Given the description of an element on the screen output the (x, y) to click on. 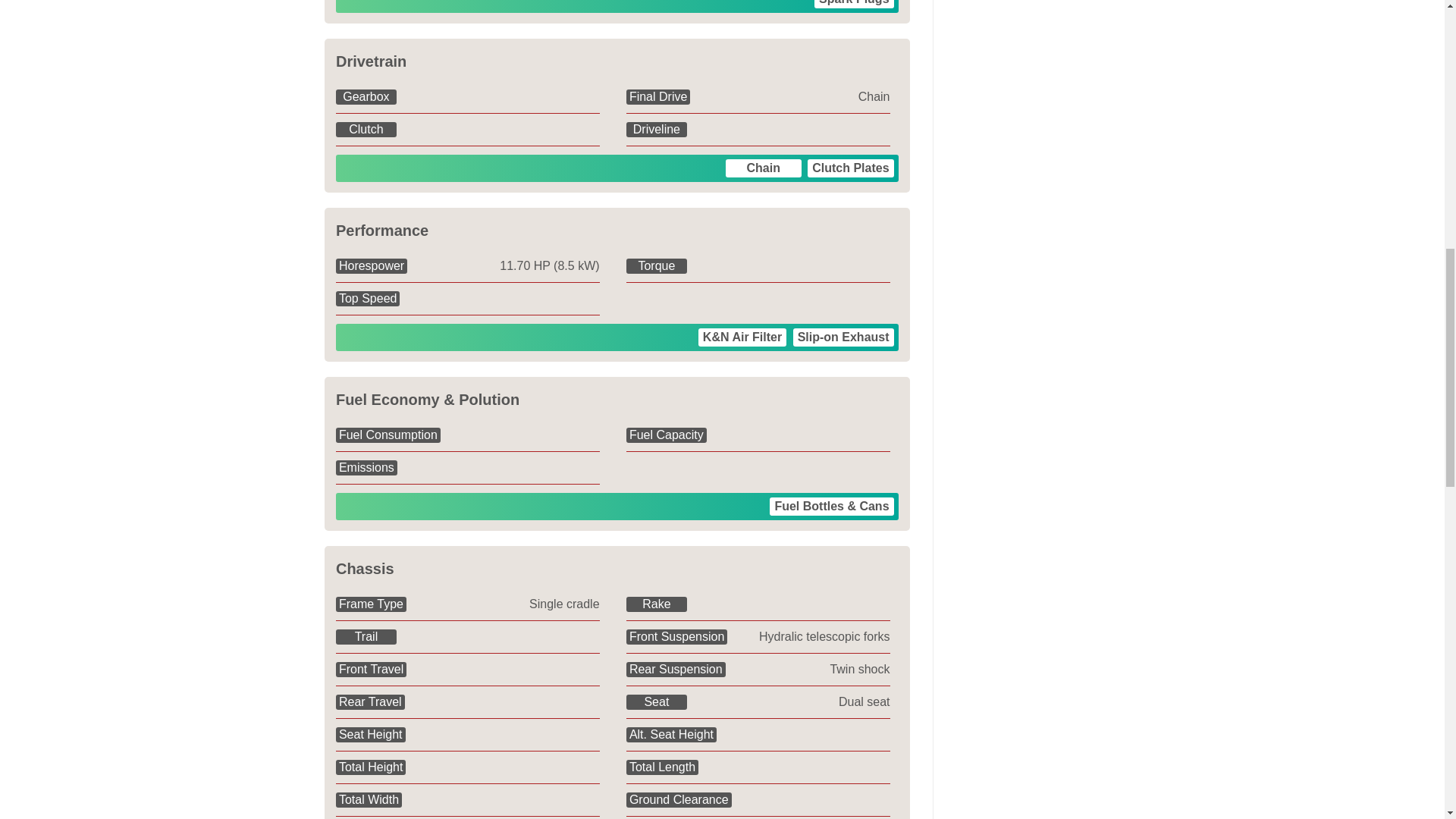
Chain (763, 167)
Spark Plugs (853, 4)
Clutch Plates (850, 167)
Slip-on Exhaust (843, 337)
